Given the description of an element on the screen output the (x, y) to click on. 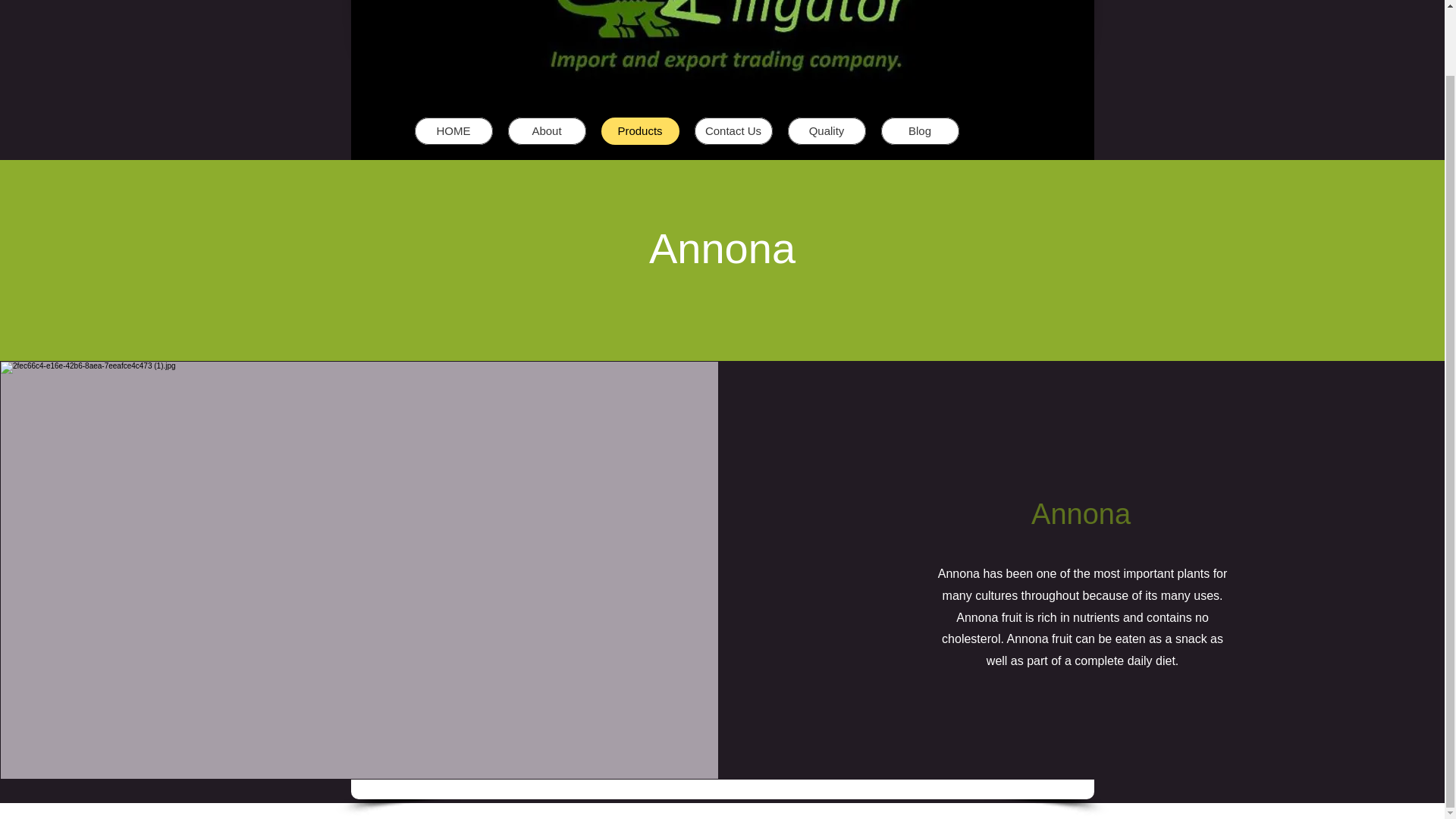
HOME (452, 130)
Contact Us (733, 130)
Blog (919, 130)
Quality (825, 130)
Products (638, 130)
About (547, 130)
